Given the description of an element on the screen output the (x, y) to click on. 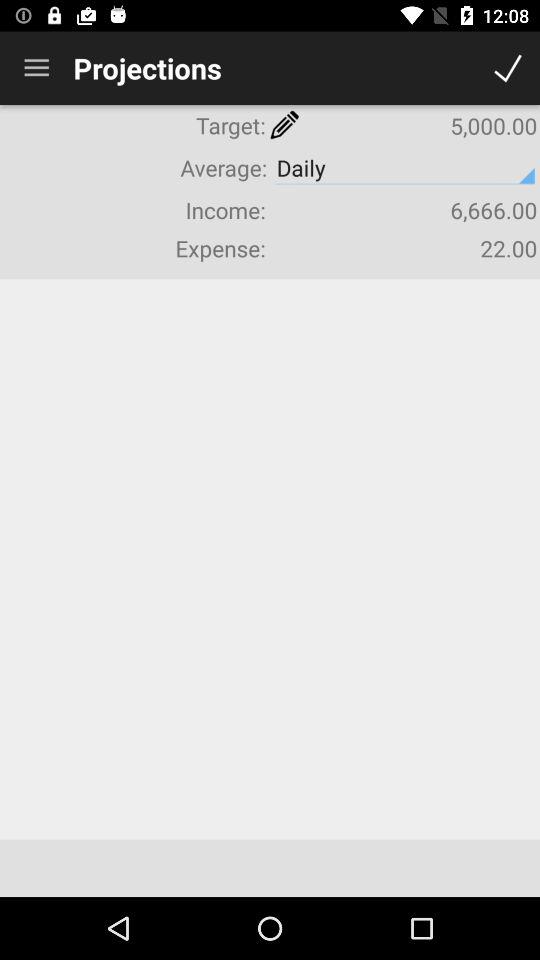
done (508, 67)
